Given the description of an element on the screen output the (x, y) to click on. 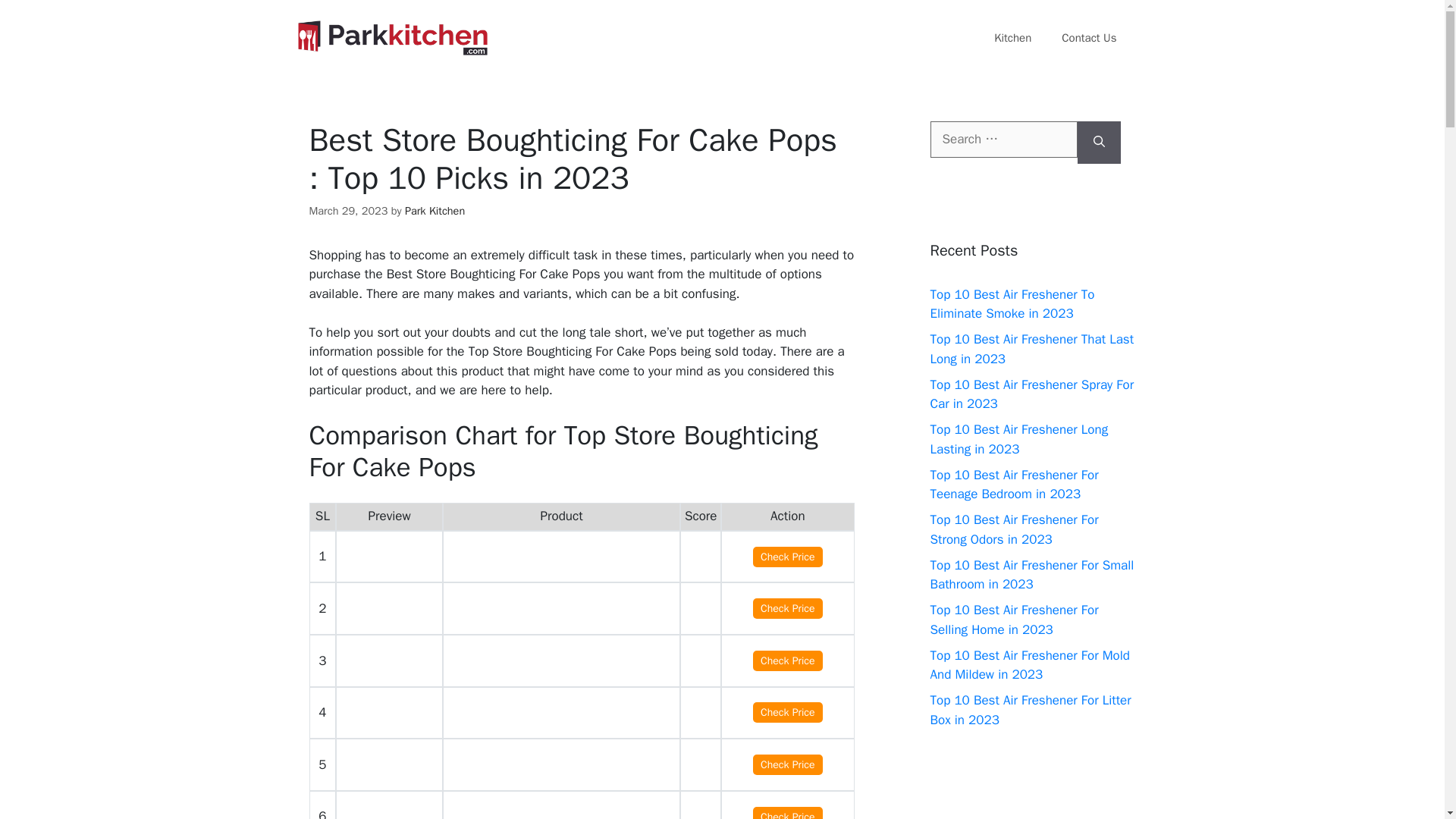
Check Price (787, 660)
Check Price (787, 608)
Check Price (787, 764)
Check Price (787, 711)
Kitchen (1012, 37)
Contact Us (1088, 37)
Park Kitchen (434, 210)
Search for: (1003, 139)
Check Price (787, 557)
Check Price (787, 812)
